Given the description of an element on the screen output the (x, y) to click on. 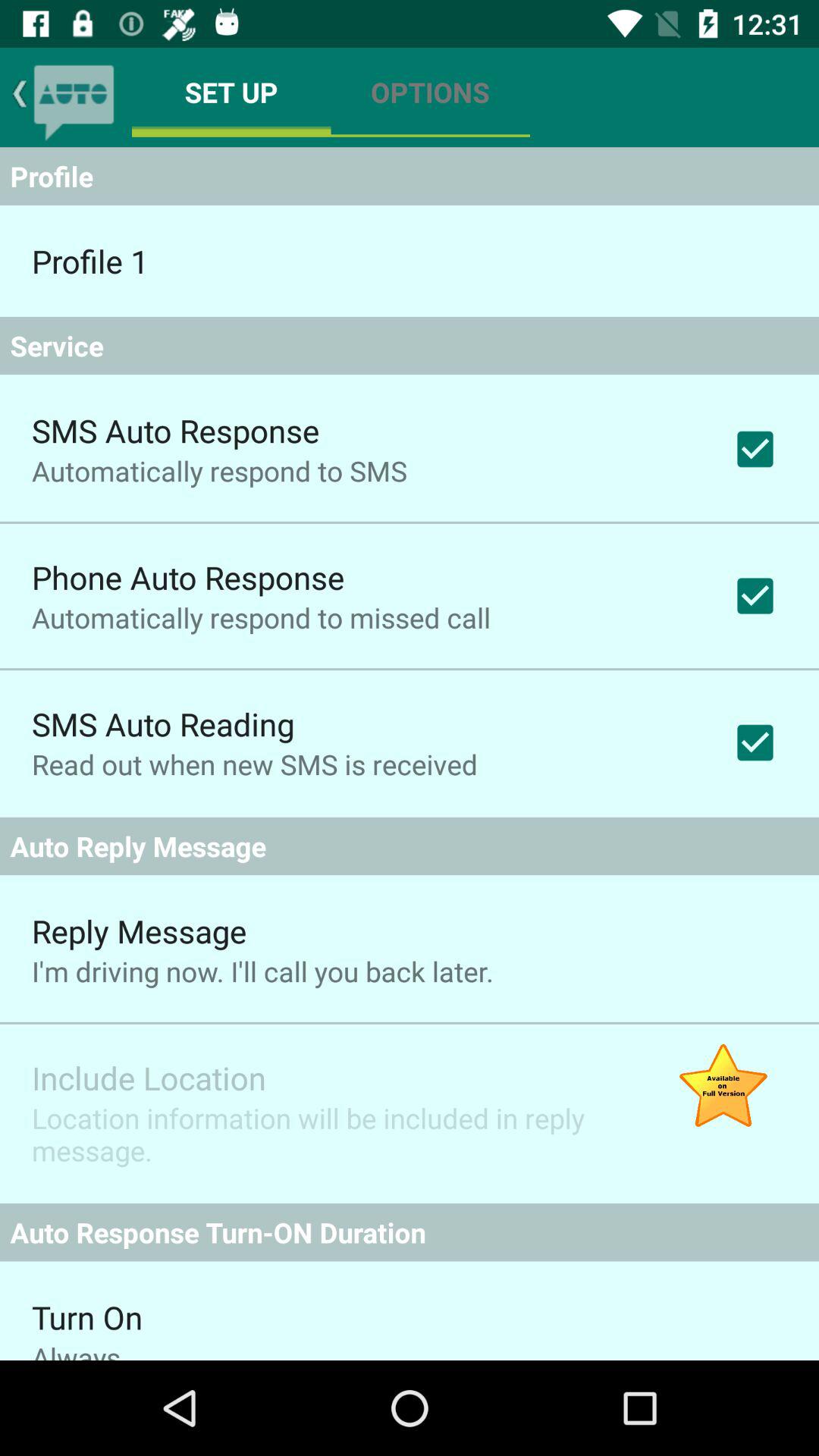
open the read out when app (254, 764)
